Given the description of an element on the screen output the (x, y) to click on. 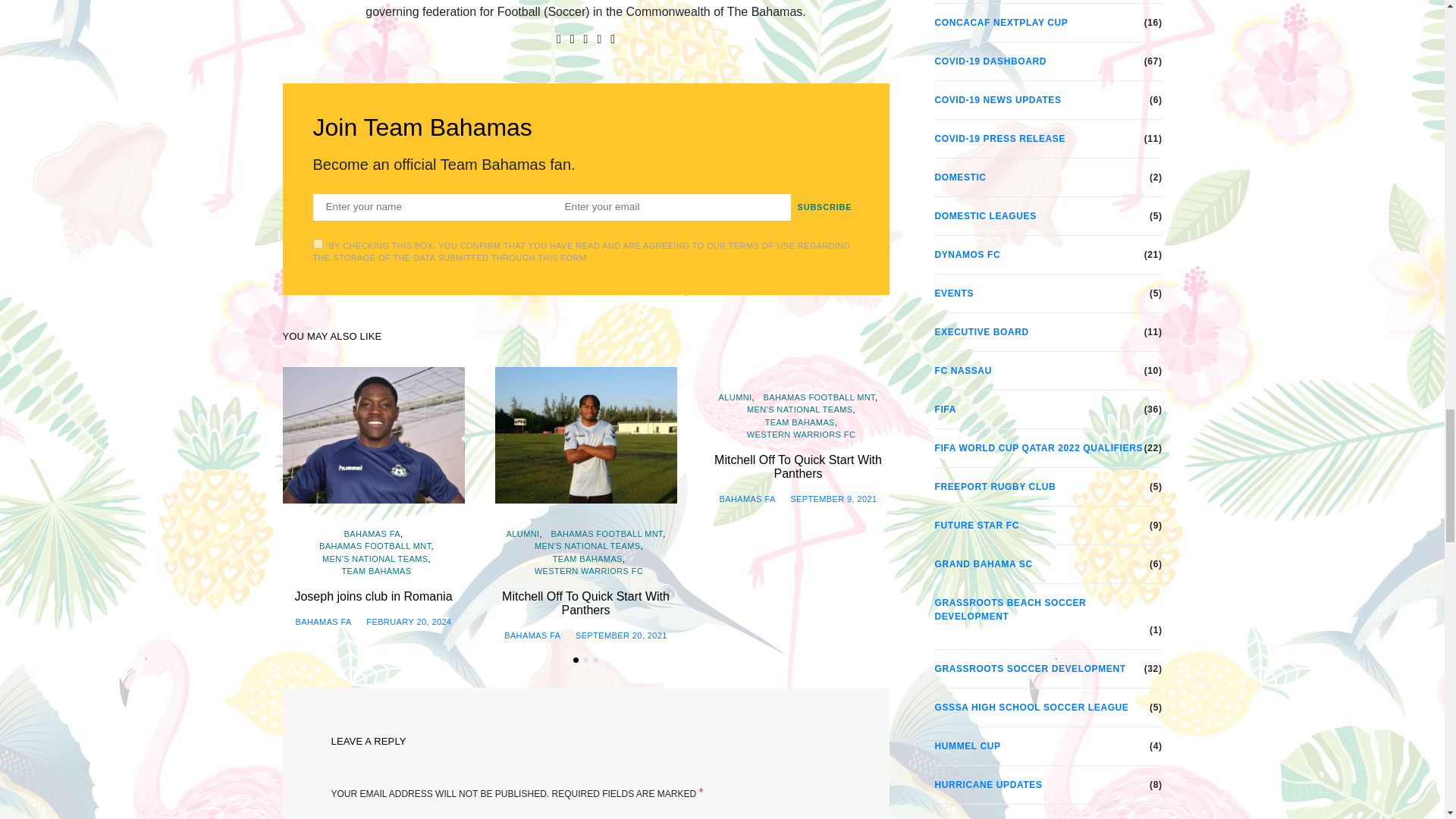
View all posts by Bahamas FA (323, 621)
View all posts by Bahamas FA (746, 498)
on (317, 243)
View all posts by Bahamas FA (531, 634)
